Given the description of an element on the screen output the (x, y) to click on. 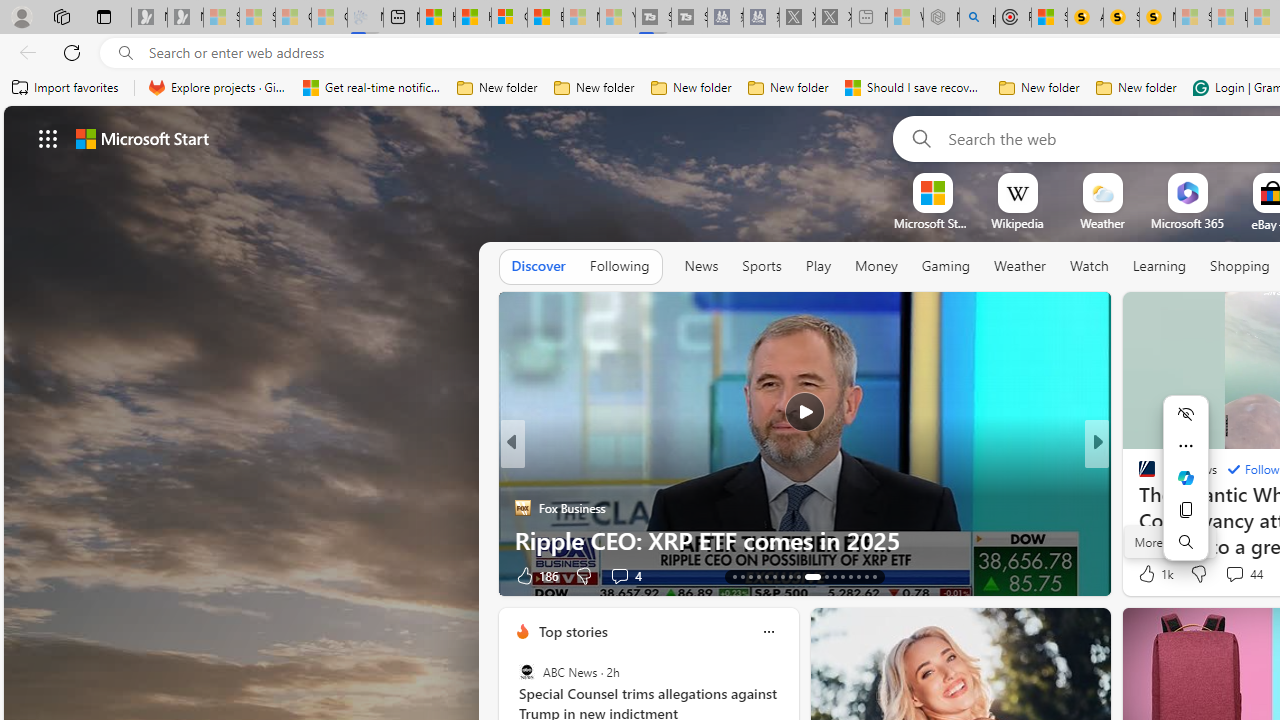
Dislike (1198, 574)
AutomationID: tab-27 (857, 576)
Tribune News Service (1138, 475)
View comments 1 Comment (1234, 575)
View comments 44 Comment (1234, 573)
New folder (1136, 88)
Discover (538, 267)
Microsoft 365 (1186, 223)
Forge of Empires (1175, 507)
Learning (1159, 265)
poe - Search (977, 17)
